Given the description of an element on the screen output the (x, y) to click on. 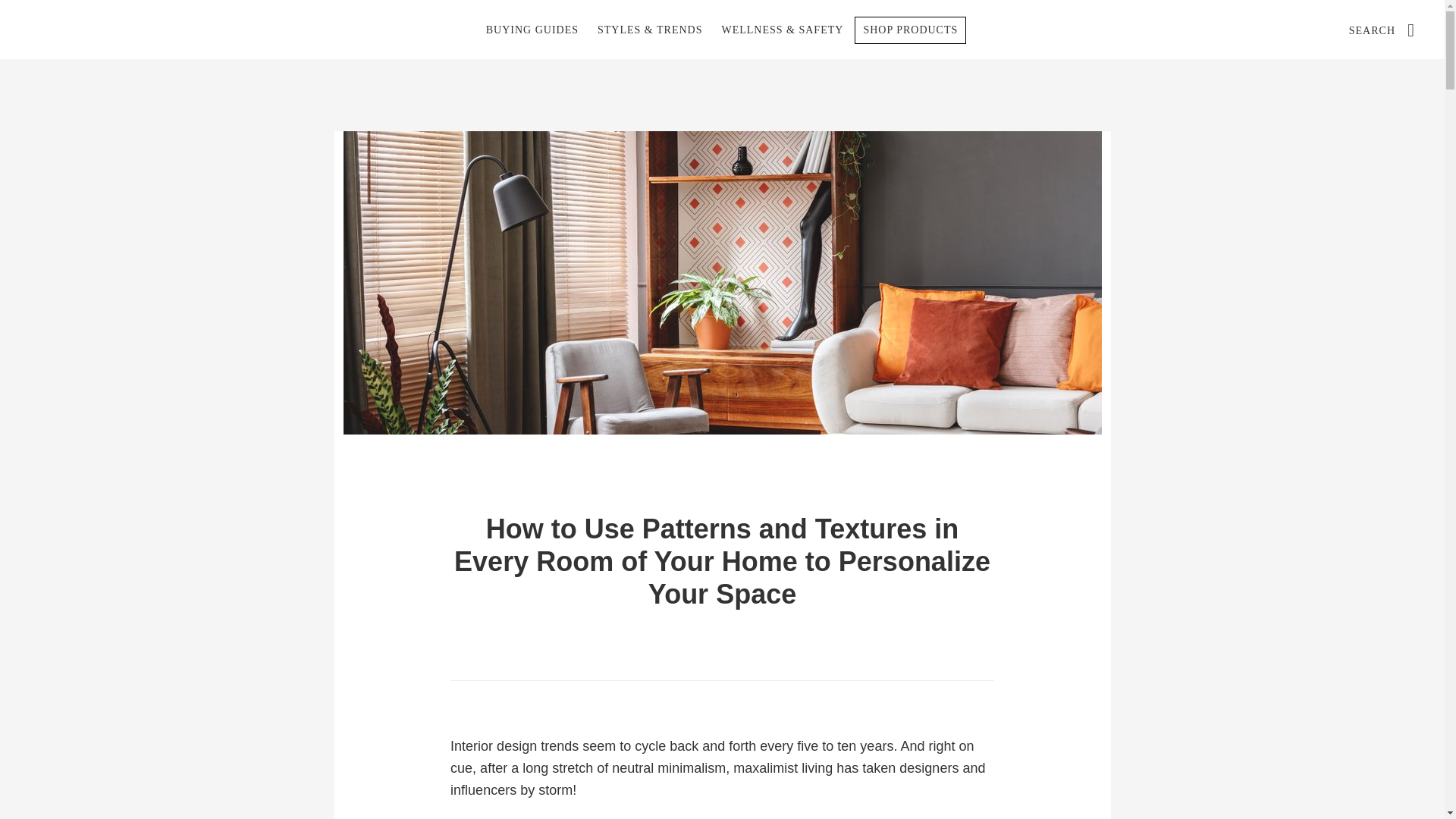
SHOP PRODUCTS (910, 30)
WATTS CURRENT (143, 28)
BUYING GUIDES (532, 30)
